Given the description of an element on the screen output the (x, y) to click on. 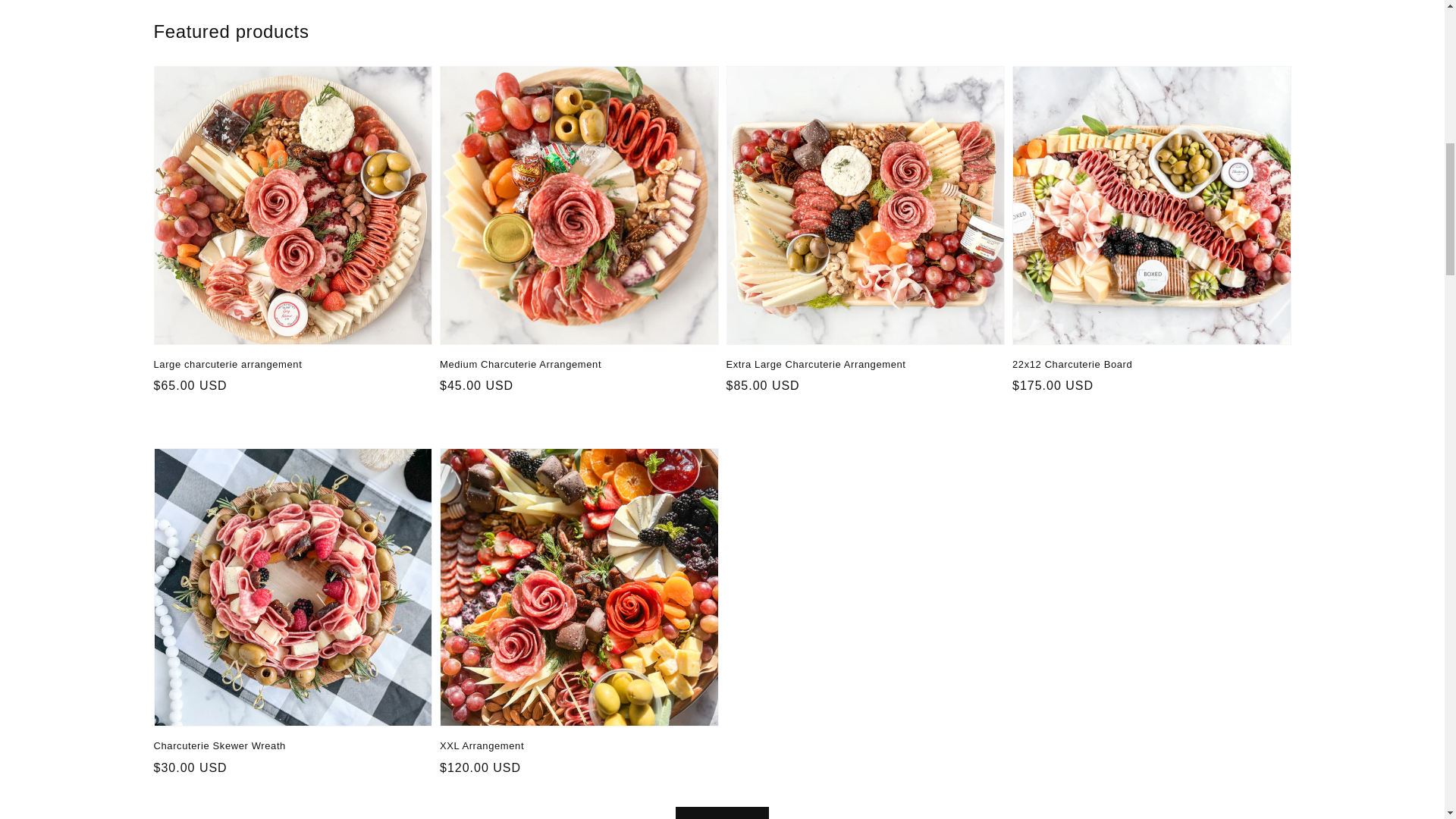
Large charcuterie arrangement (287, 364)
Medium Charcuterie Arrangement (574, 364)
